Given the description of an element on the screen output the (x, y) to click on. 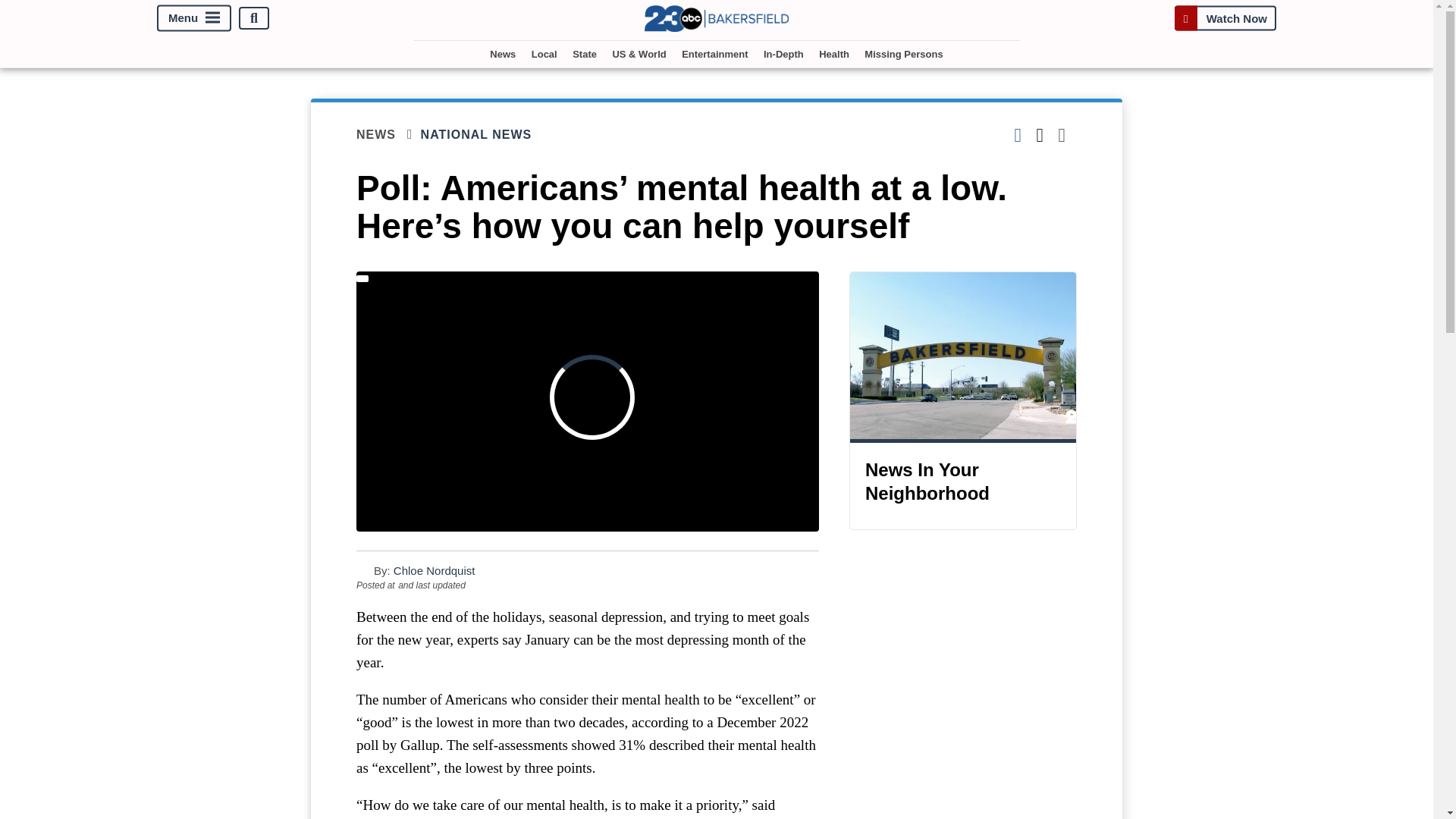
Menu (194, 17)
Watch Now (1224, 18)
